Given the description of an element on the screen output the (x, y) to click on. 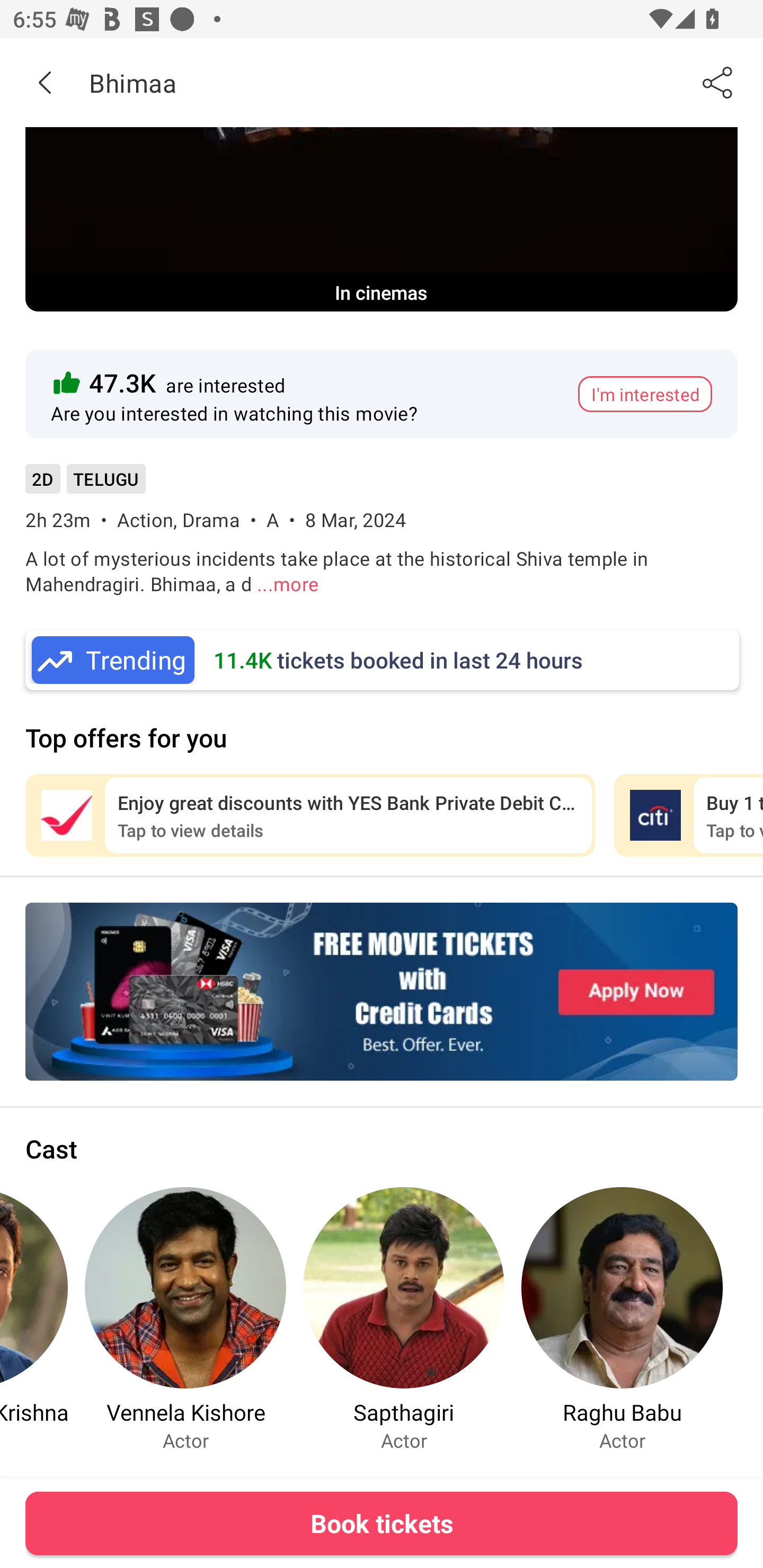
Back (44, 82)
Share (718, 82)
Movie Banner In cinemas (381, 219)
I'm interested (644, 394)
2D TELUGU (85, 485)
Vennela Kishore Actor (185, 1319)
Sapthagiri Actor (403, 1319)
Raghu Babu Actor (621, 1319)
Book tickets (381, 1523)
